Given the description of an element on the screen output the (x, y) to click on. 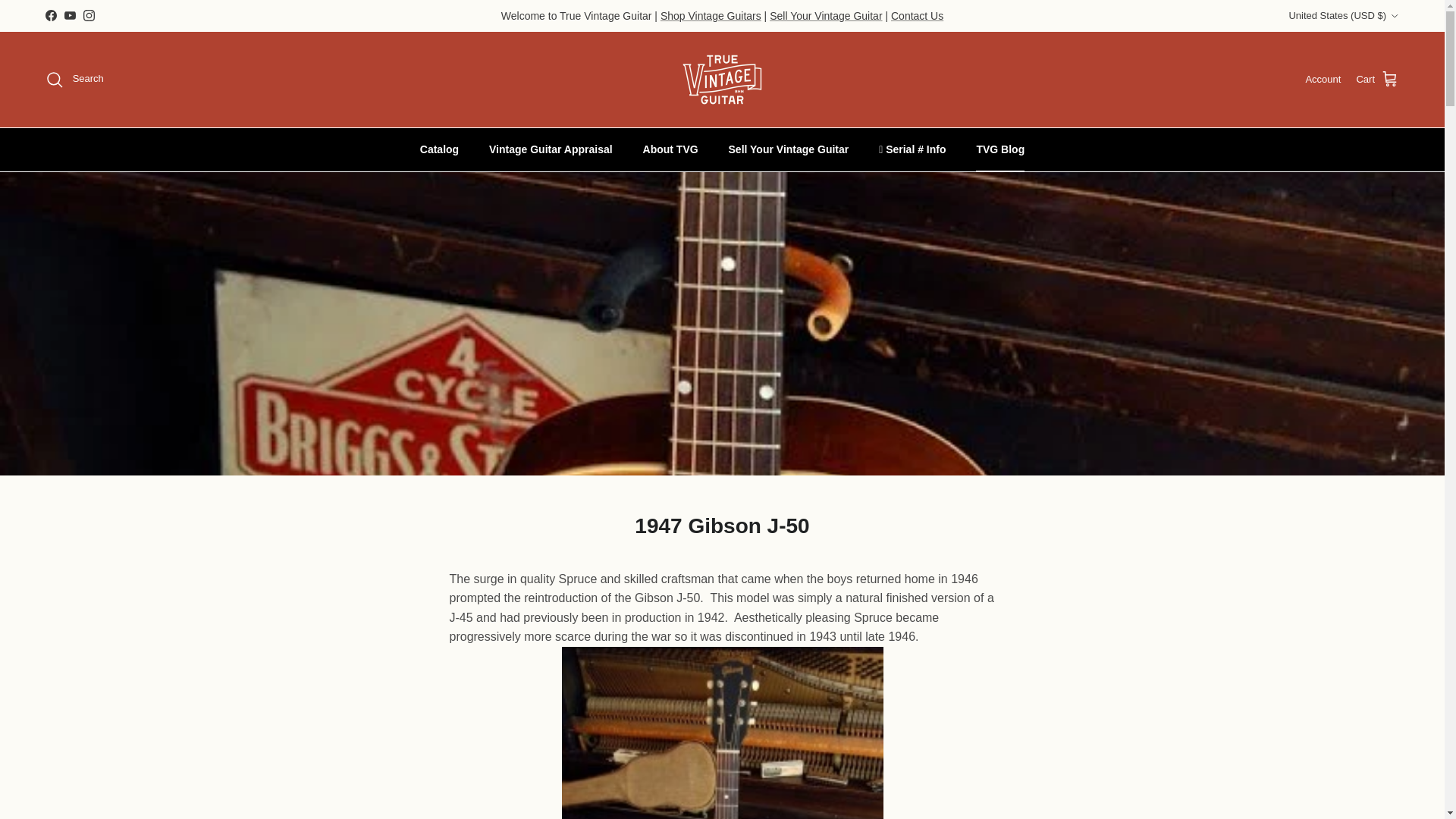
Catalog (438, 149)
Sell Your Vintage Guitar (826, 15)
Shop Vintage Guitars (711, 15)
True Vintage Guitar (722, 79)
Facebook (50, 15)
True Vintage Guitar on YouTube (69, 15)
True Vintage Guitar on Facebook (50, 15)
Cart (1377, 79)
Instagram (88, 15)
Contact Us (917, 15)
True Vintage Guitar on Instagram (88, 15)
Vintage Guitar Appraisal (551, 149)
About TVG (669, 149)
YouTube (69, 15)
Account (1322, 79)
